Given the description of an element on the screen output the (x, y) to click on. 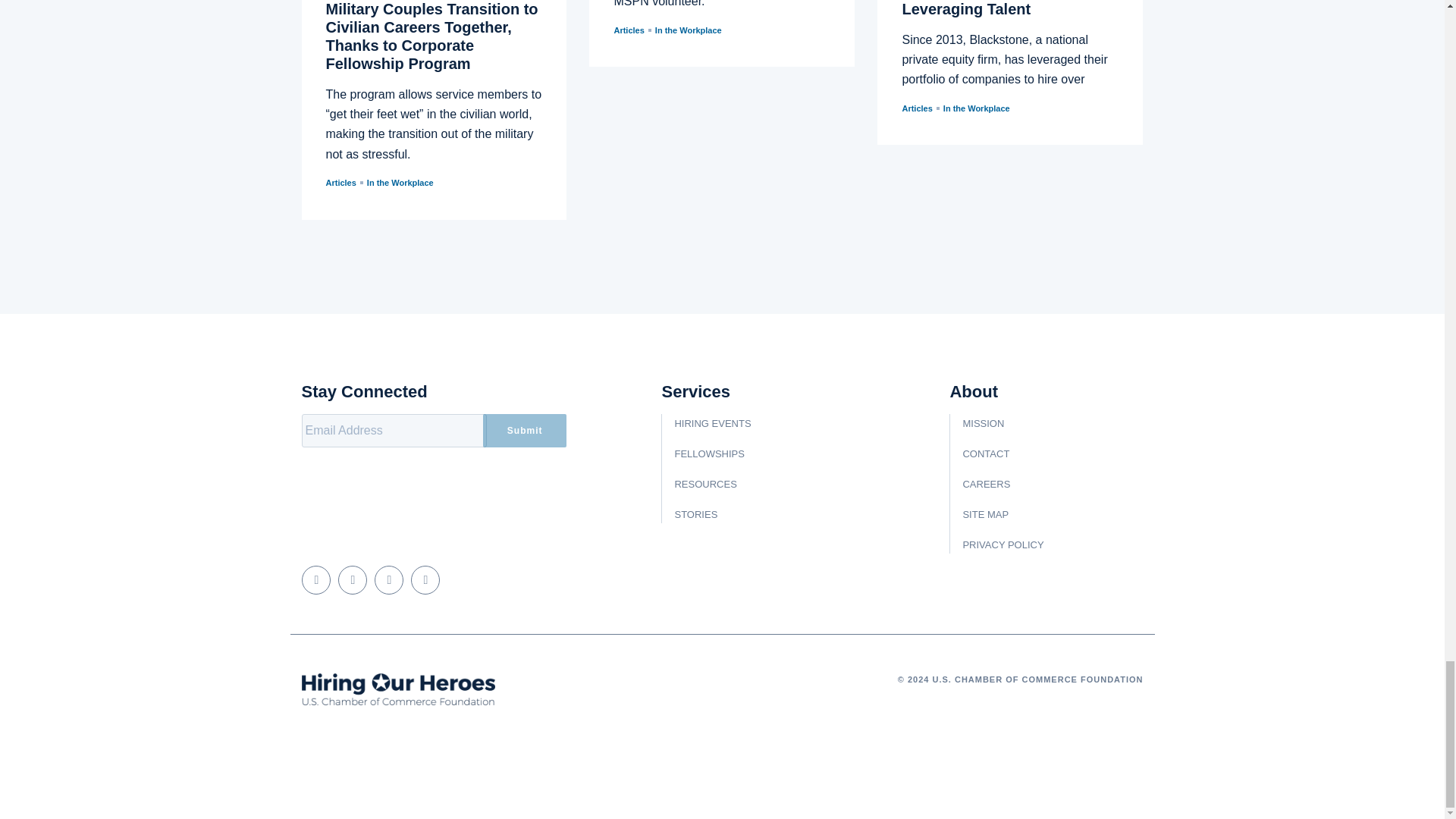
CAREERS (986, 483)
FELLOWSHIPS (709, 453)
SITE MAP (985, 514)
STORIES (695, 514)
CONTACT (985, 453)
Submit (525, 430)
HIRING EVENTS (712, 423)
RESOURCES (705, 483)
PRIVACY POLICY (1002, 544)
Submit (525, 430)
MISSION (983, 423)
